Given the description of an element on the screen output the (x, y) to click on. 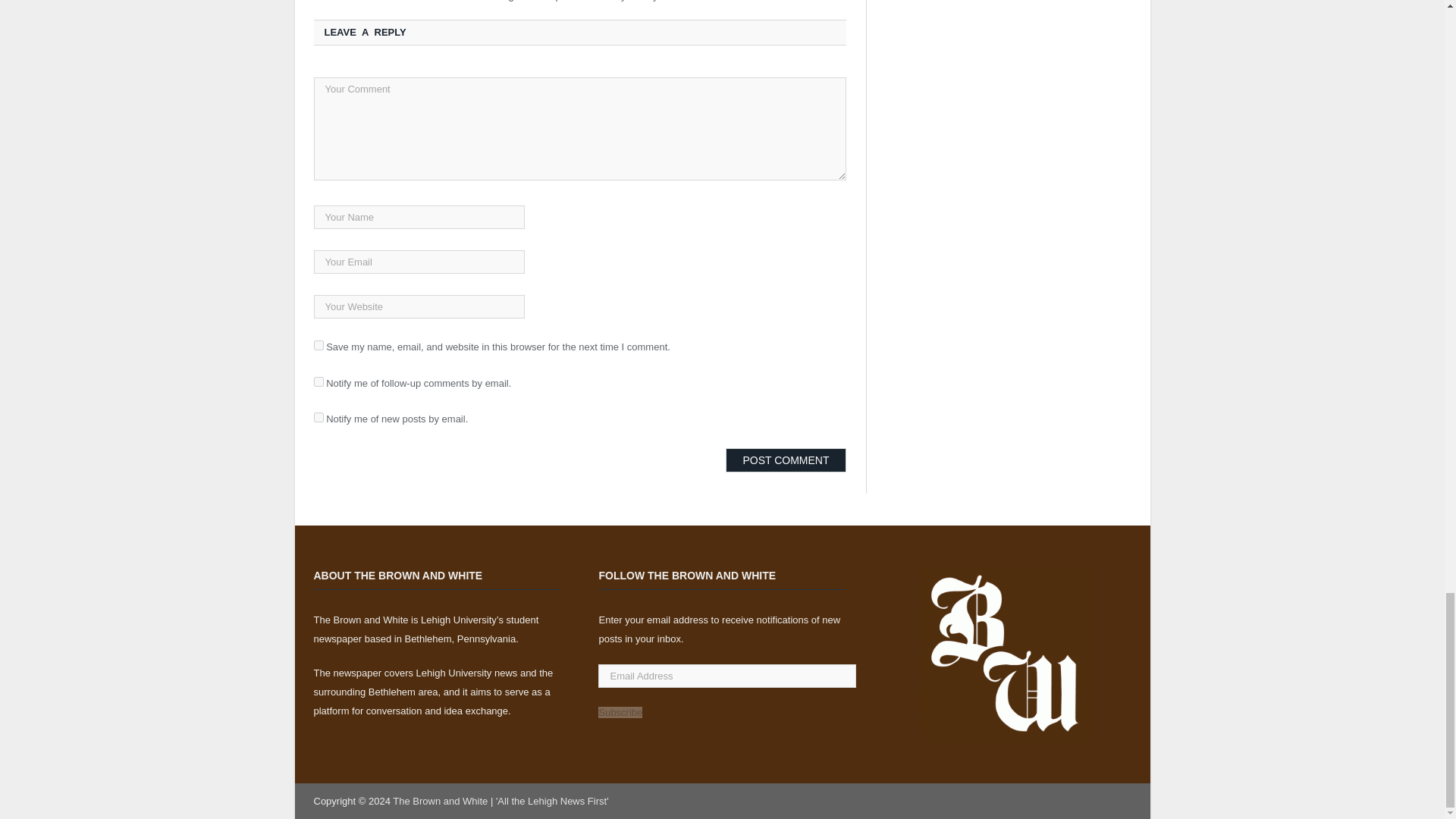
subscribe (318, 381)
yes (318, 345)
Post Comment (785, 459)
subscribe (318, 417)
